Given the description of an element on the screen output the (x, y) to click on. 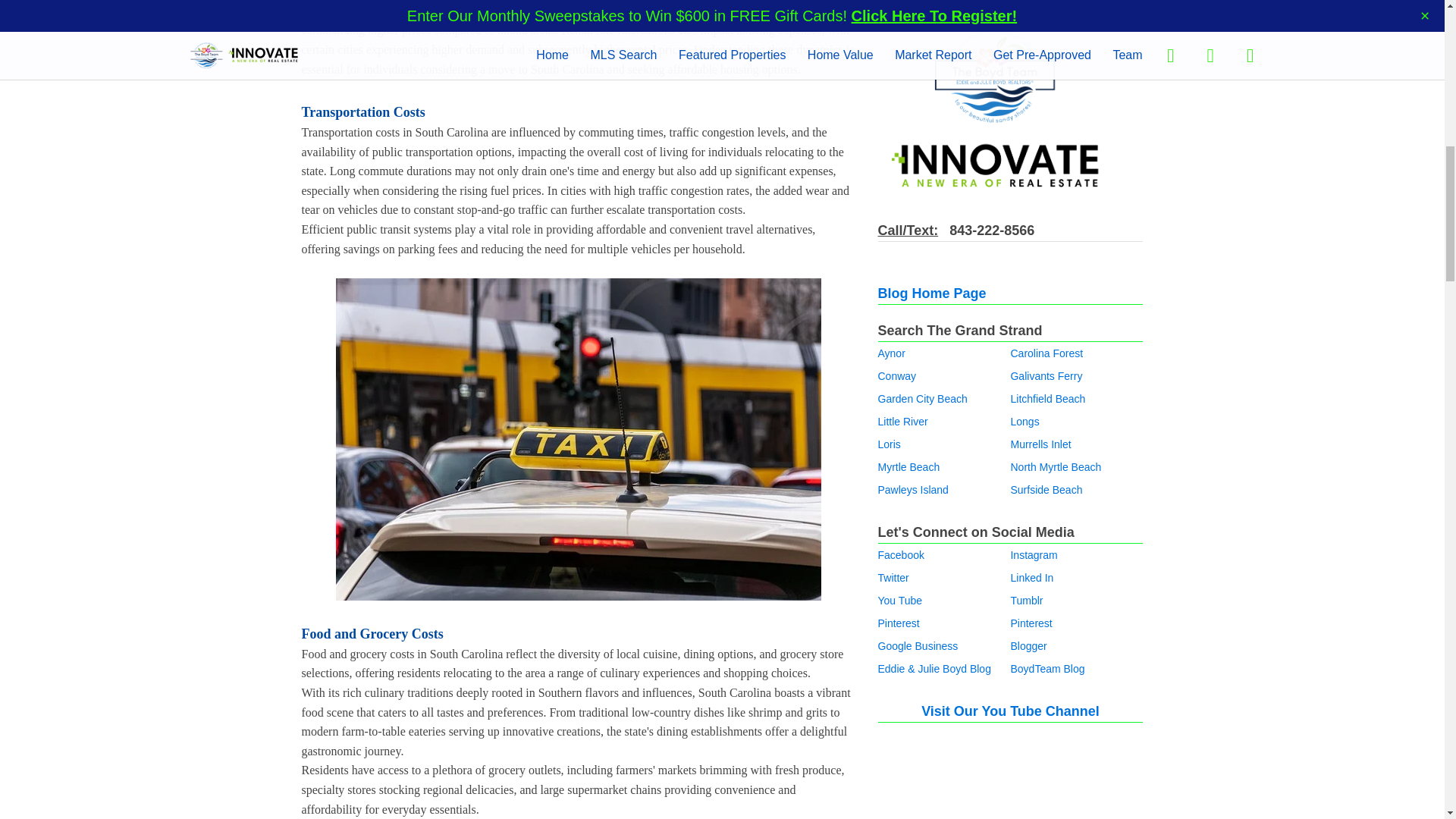
Aynor (891, 353)
North Myrtle Beach (1055, 467)
Murrells Inlet (1040, 444)
Galivants Ferry (1045, 376)
Conway (897, 376)
Longs (1024, 421)
Blog Home Page (932, 293)
Little River (902, 421)
Loris (889, 444)
Litchfield Beach (1047, 398)
Carolina Forest (1046, 353)
Myrtle Beach (908, 467)
Garden City Beach (922, 398)
